Given the description of an element on the screen output the (x, y) to click on. 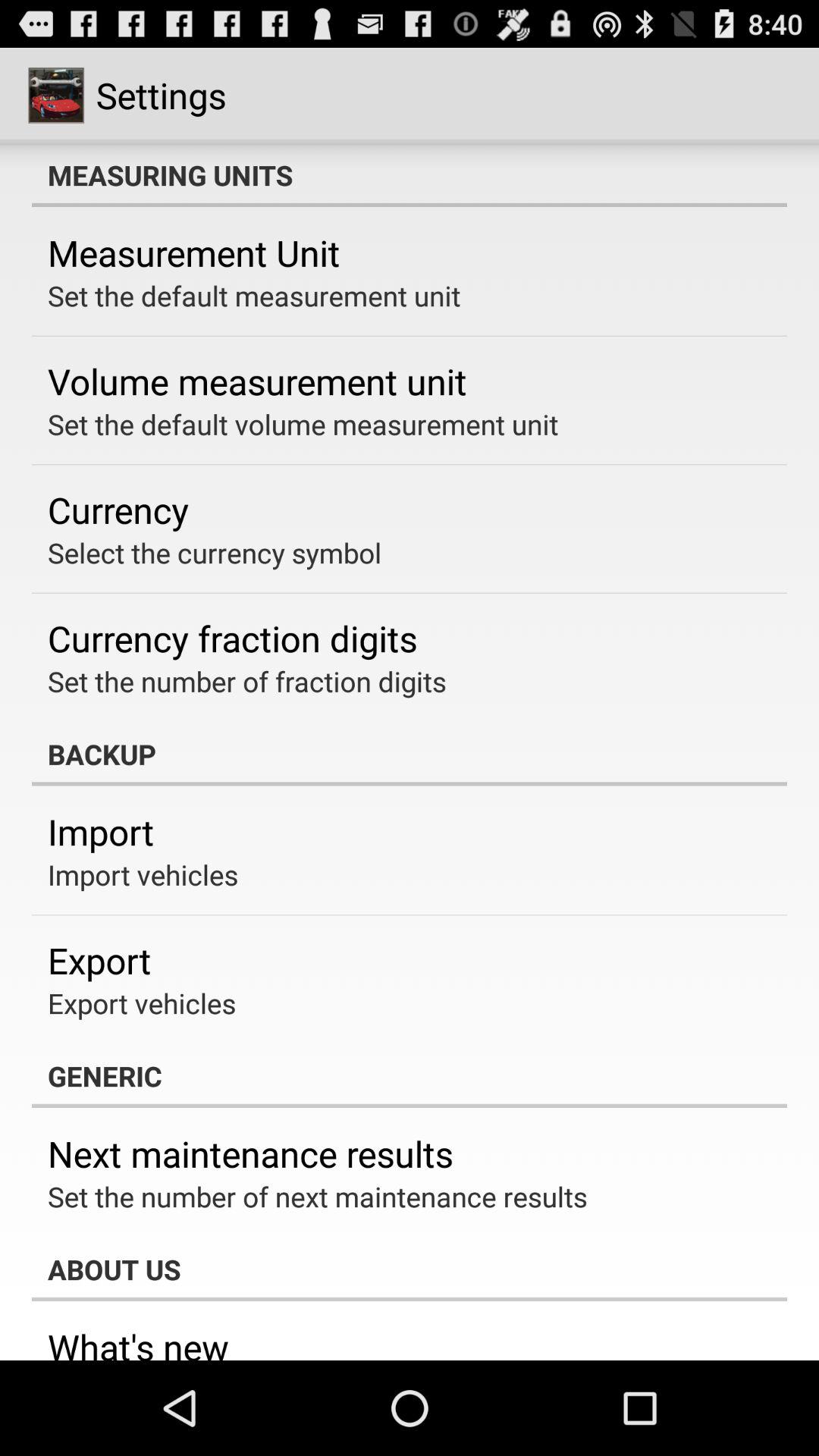
click the icon above measurement unit app (409, 175)
